Given the description of an element on the screen output the (x, y) to click on. 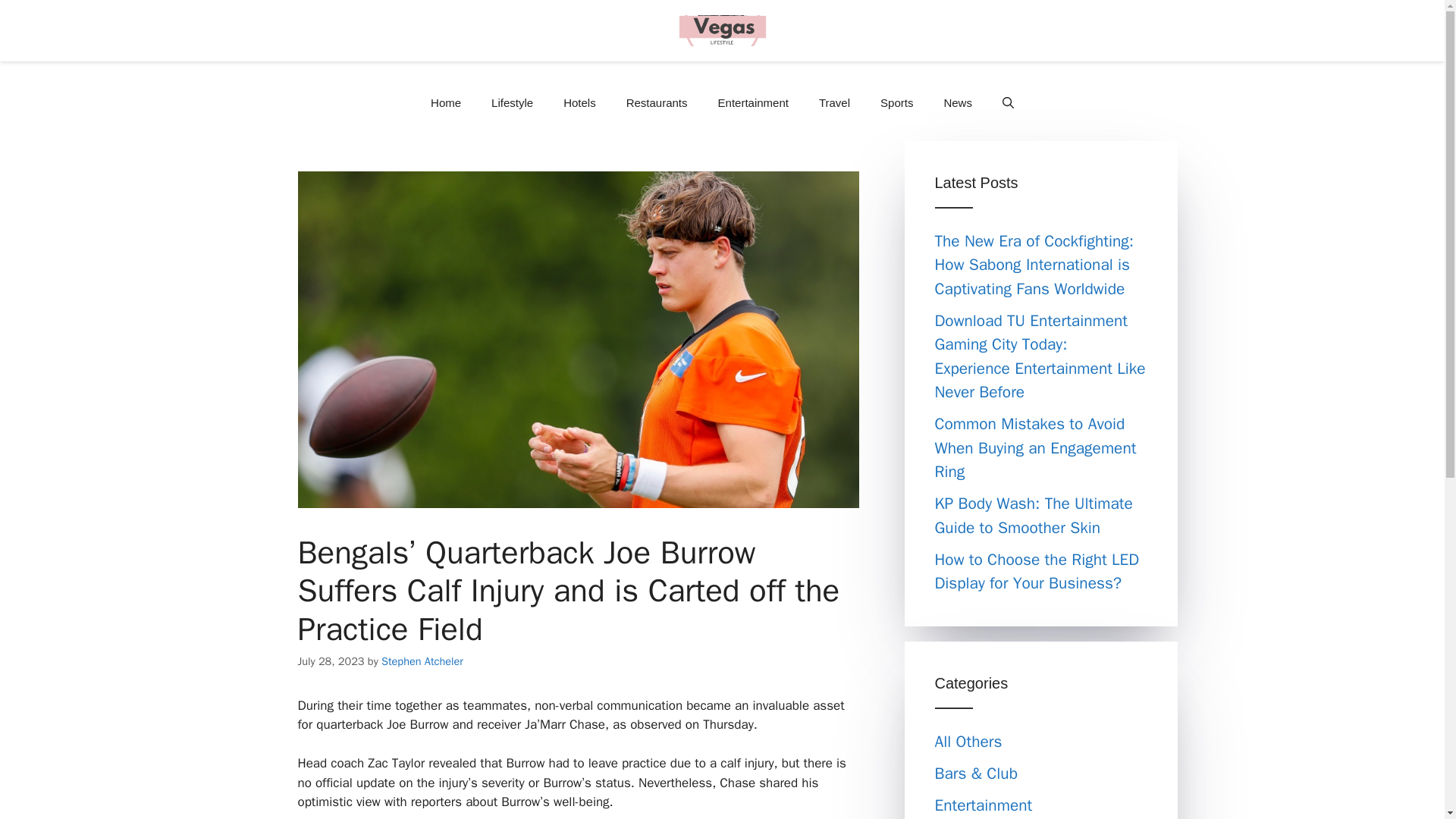
Common Mistakes to Avoid When Buying an Engagement Ring (1034, 447)
Travel (833, 103)
View all posts by Stephen Atcheler (422, 661)
Sports (896, 103)
Lifestyle (512, 103)
Home (445, 103)
News (957, 103)
Entertainment (753, 103)
KP Body Wash: The Ultimate Guide to Smoother Skin (1033, 515)
Restaurants (657, 103)
Stephen Atcheler (422, 661)
Hotels (579, 103)
All Others (967, 741)
